Given the description of an element on the screen output the (x, y) to click on. 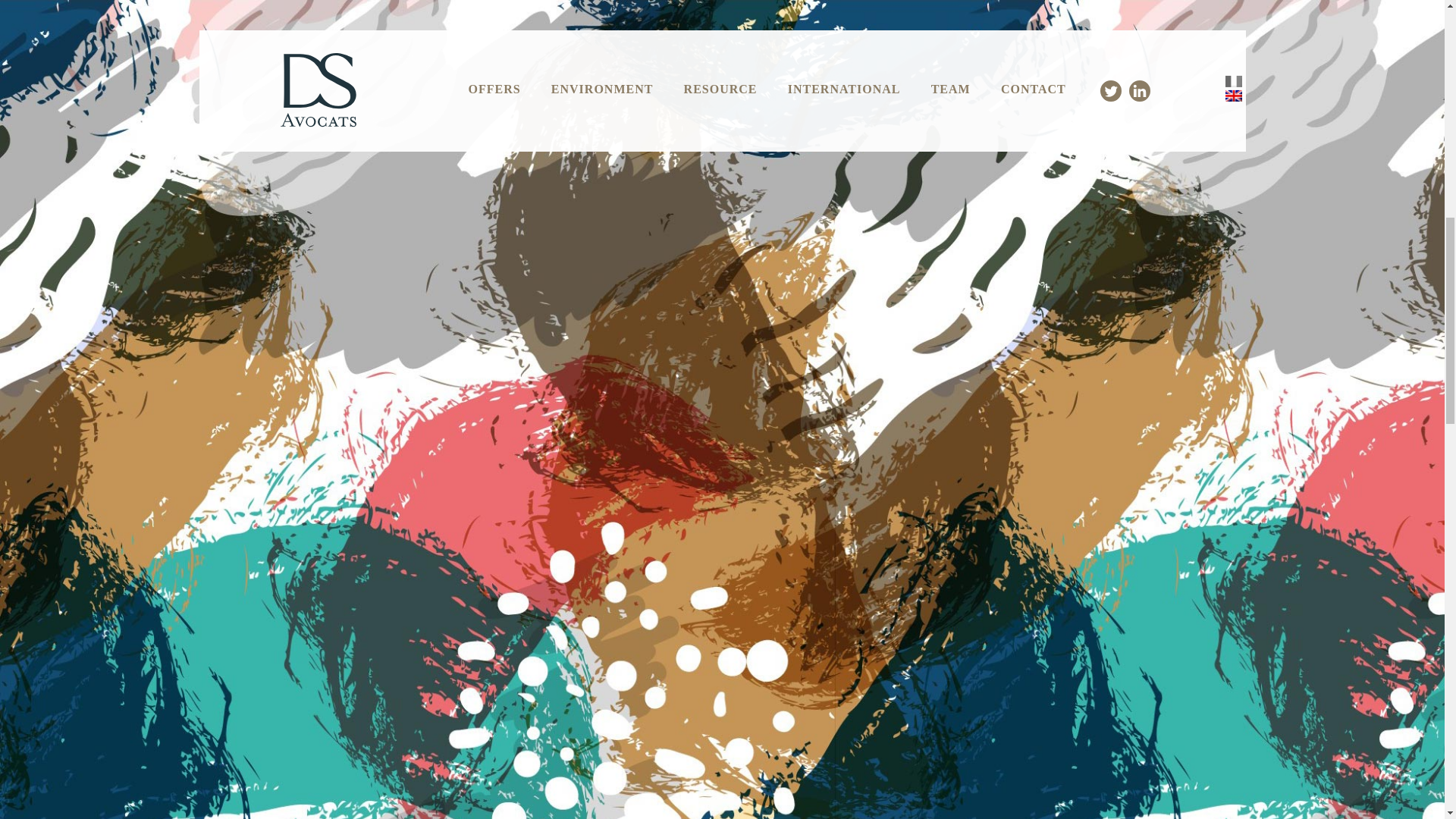
Send (1029, 749)
